Given the description of an element on the screen output the (x, y) to click on. 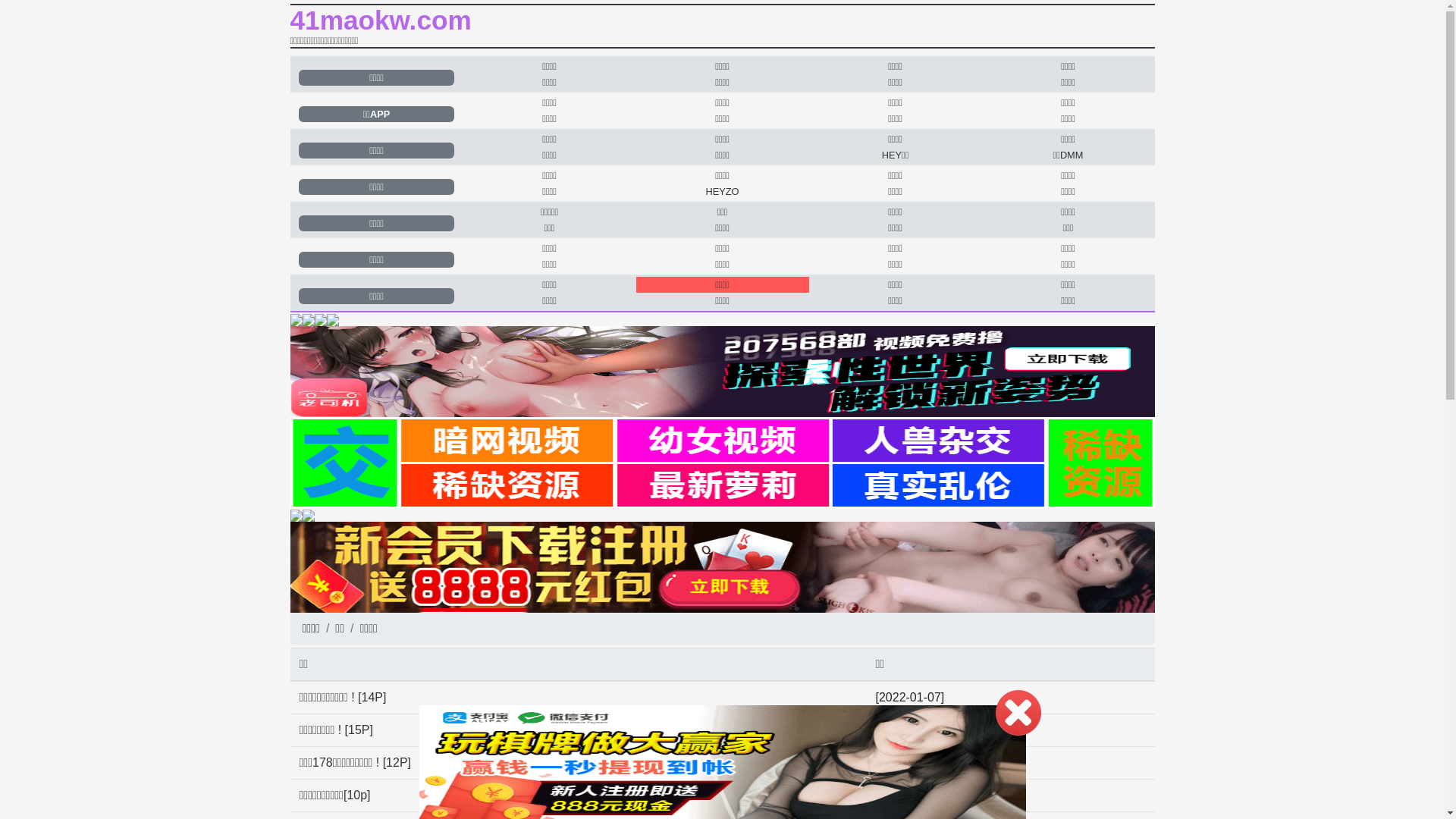
HEYZO Element type: text (722, 191)
